Given the description of an element on the screen output the (x, y) to click on. 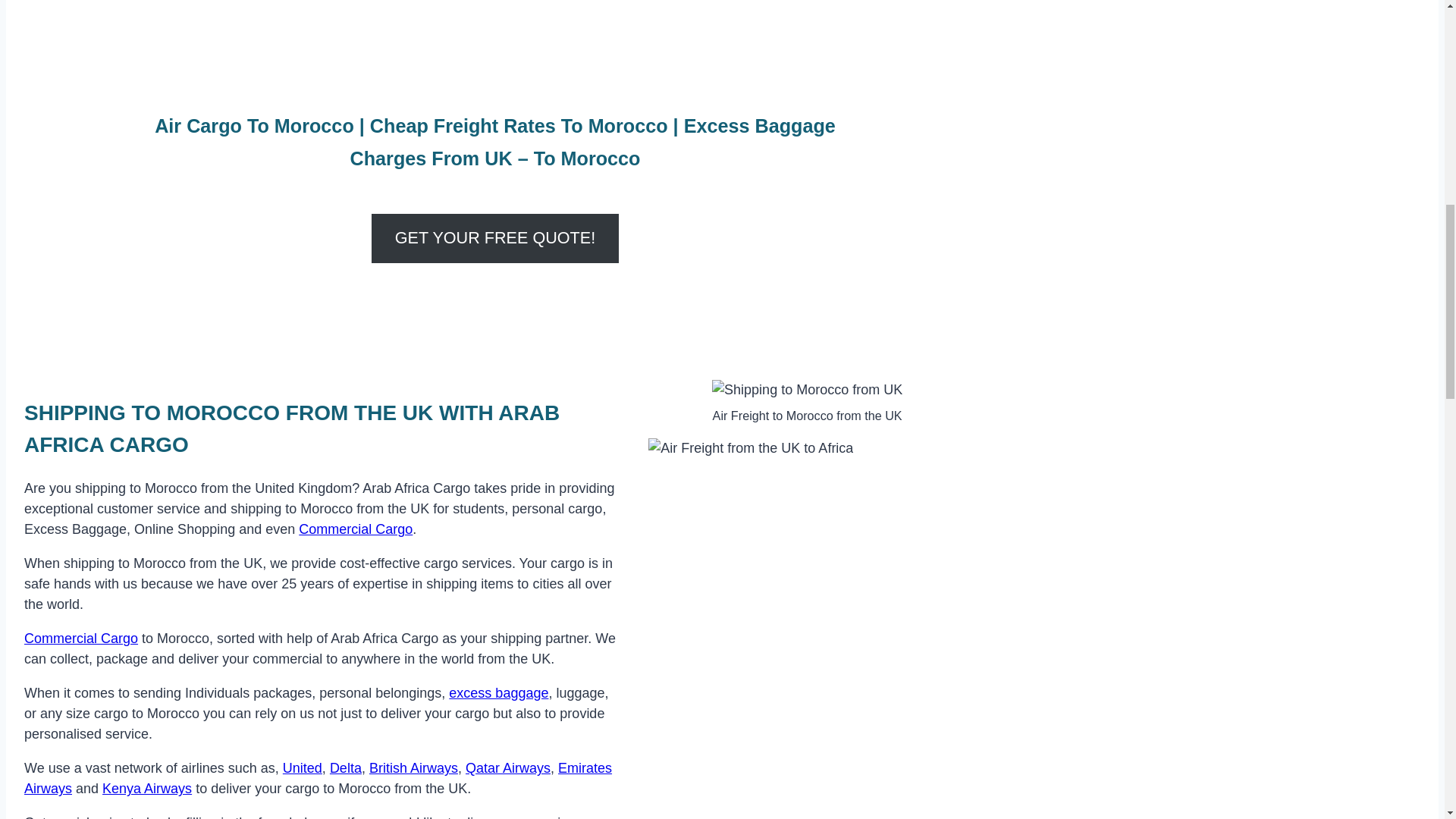
Qatar Airways (507, 767)
GET YOUR FREE QUOTE! (494, 237)
British Airways (413, 767)
Commercial Cargo (355, 529)
Emirates Airways (317, 778)
United (301, 767)
excess baggage (498, 693)
Commercial Cargo (81, 638)
Kenya Airways (146, 788)
Delta (345, 767)
